Given the description of an element on the screen output the (x, y) to click on. 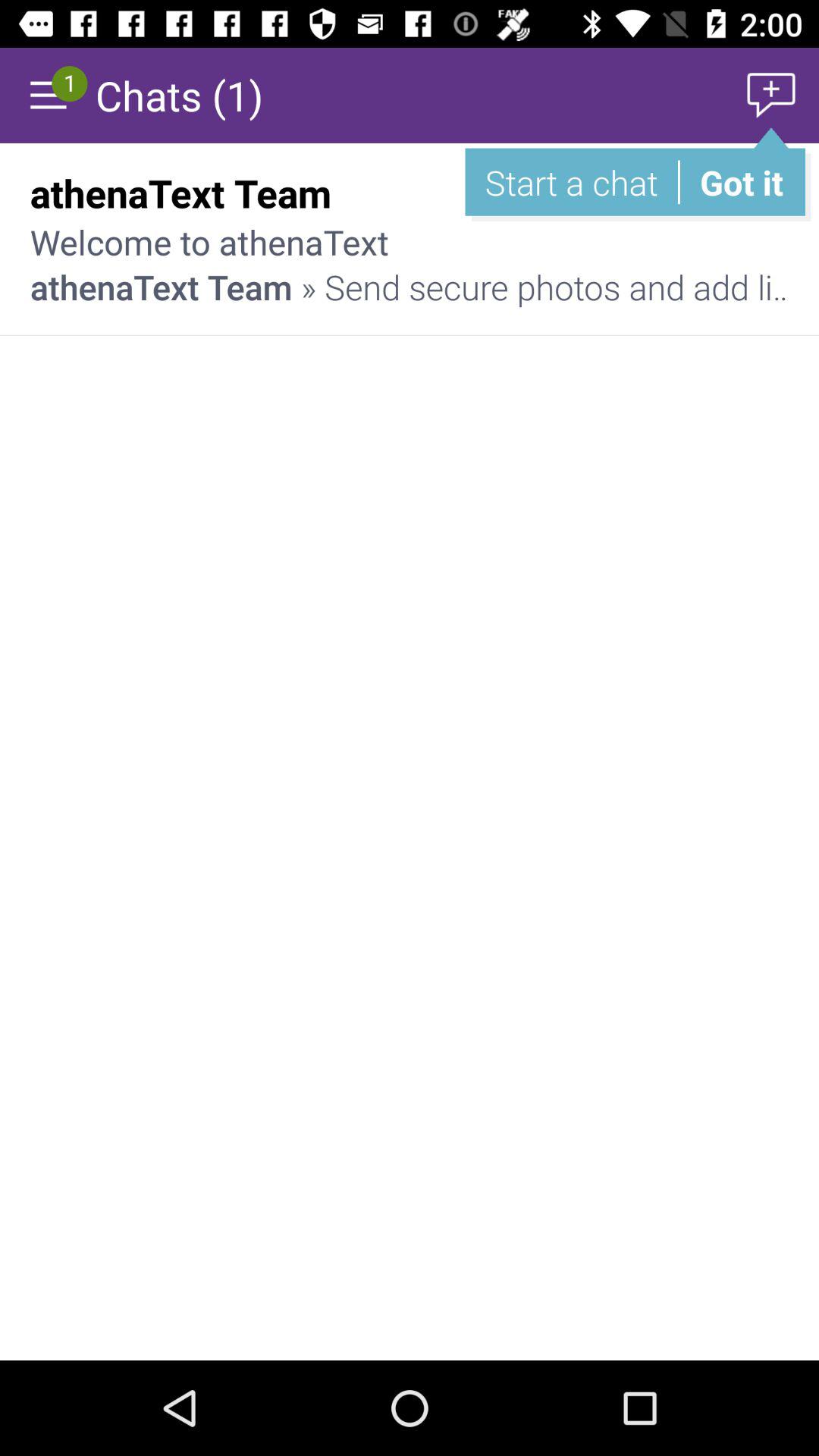
display menu options (47, 95)
